Given the description of an element on the screen output the (x, y) to click on. 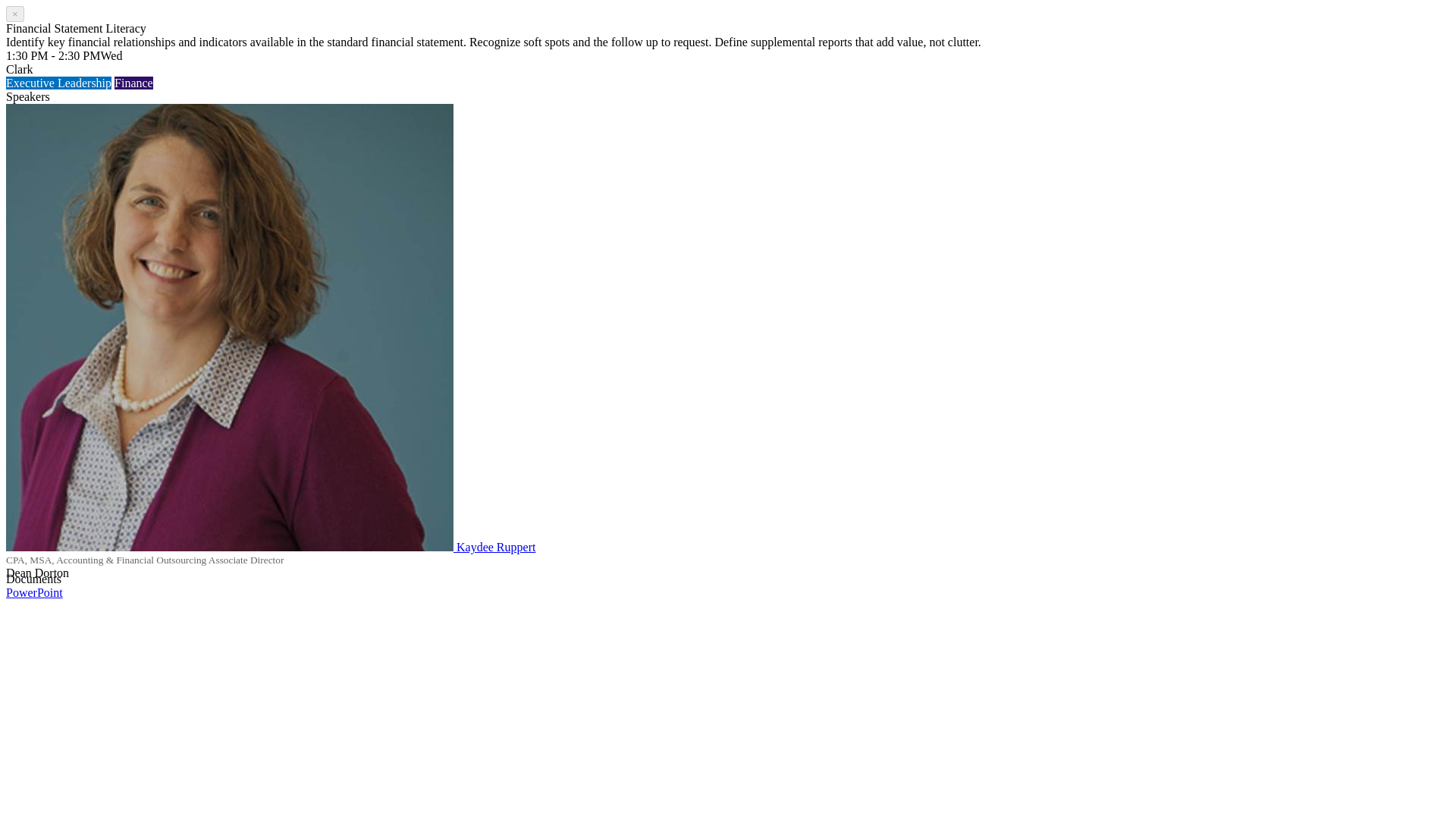
Kaydee Ruppert (270, 546)
PowerPoint (33, 592)
Kaydee Ruppert (496, 546)
